Given the description of an element on the screen output the (x, y) to click on. 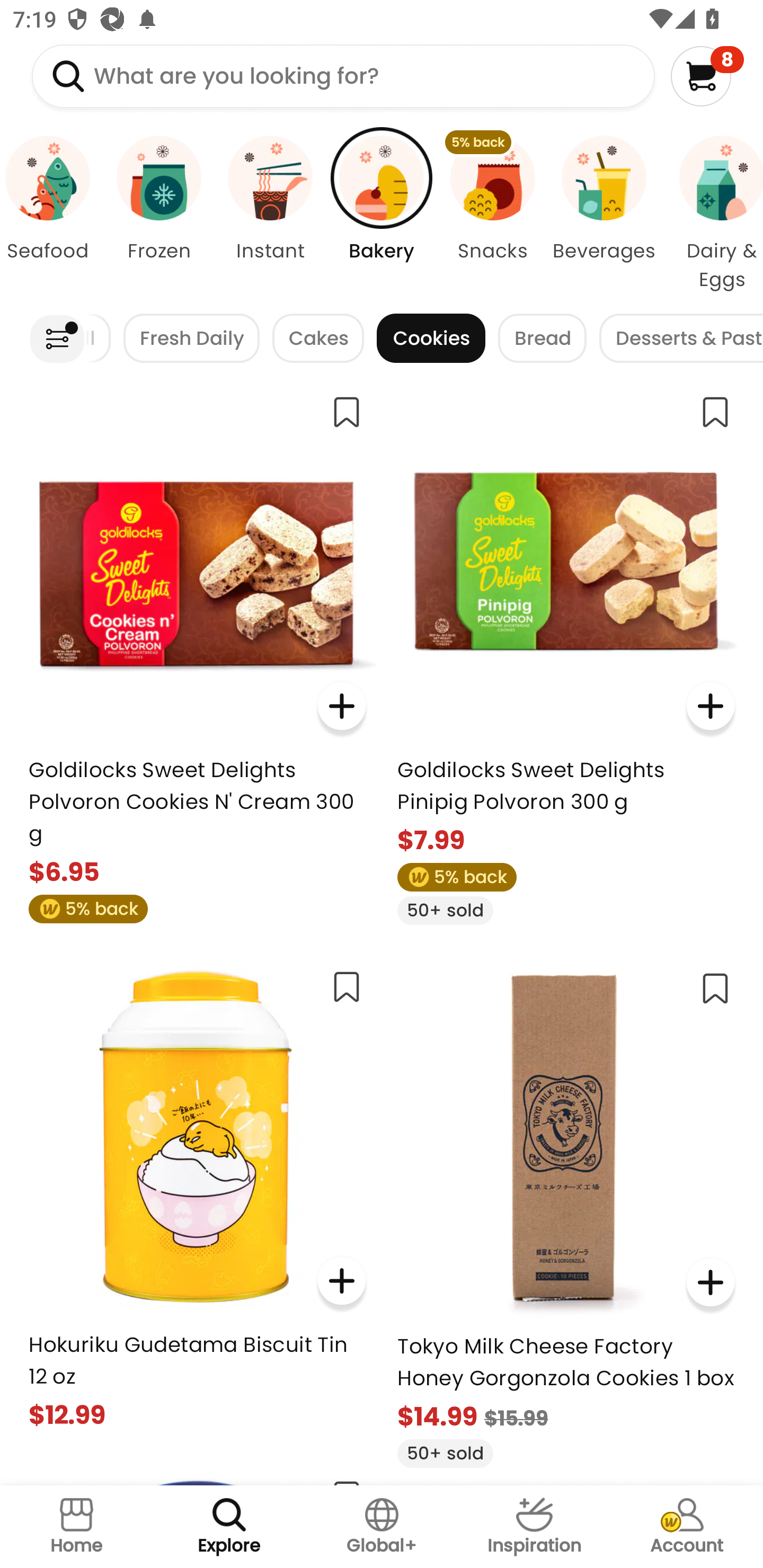
What are you looking for? (343, 75)
8 (706, 75)
Seafood (51, 214)
Frozen (158, 214)
Instant (269, 214)
Bakery (381, 214)
5% back Snacks (492, 214)
Beverages (603, 214)
Dairy & Eggs (711, 214)
Fresh Daily (191, 337)
Cakes (317, 337)
Cookies (430, 337)
Bread (542, 337)
Desserts & Pastries (680, 337)
